Given the description of an element on the screen output the (x, y) to click on. 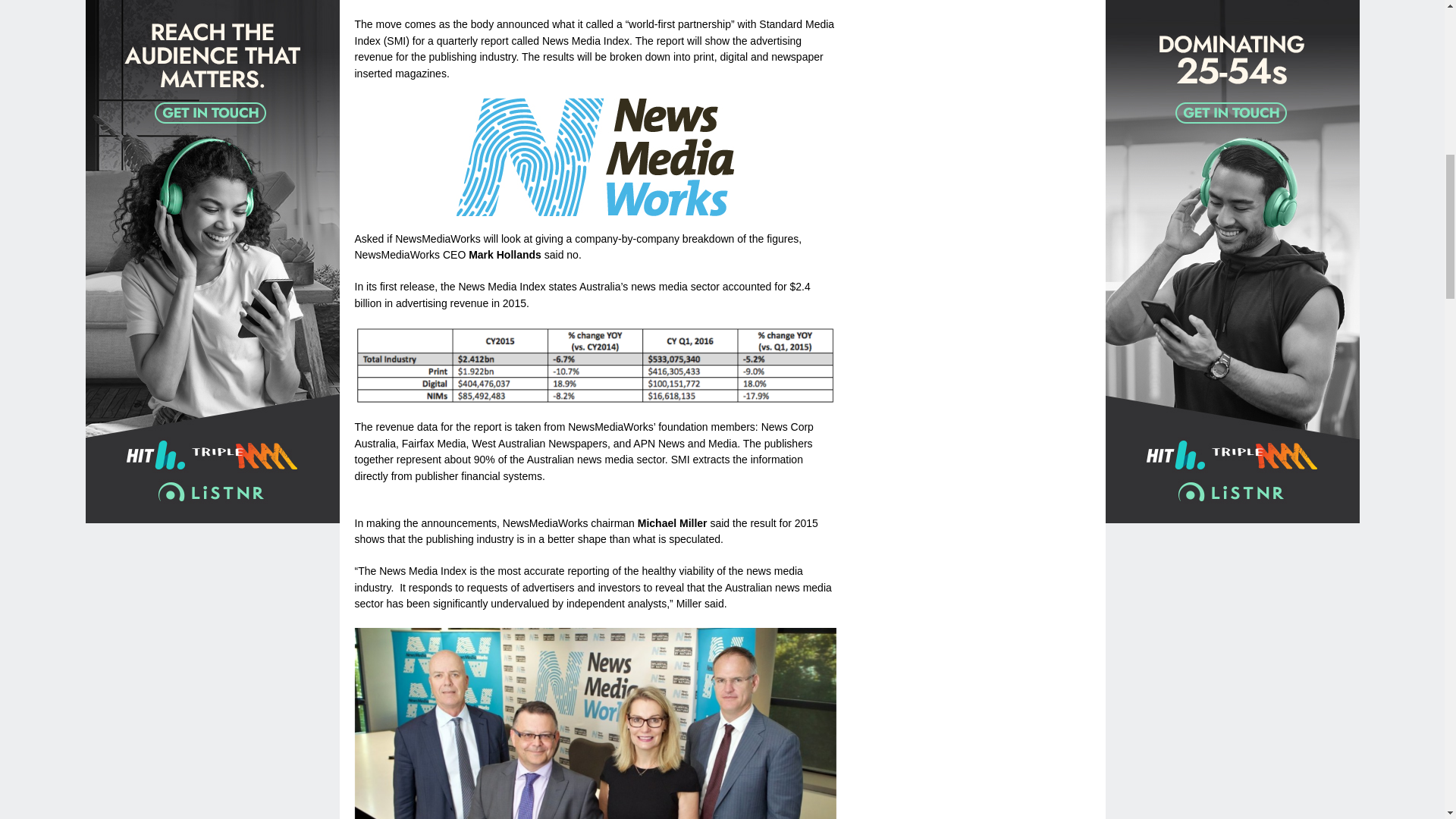
3rd party ad content (976, 127)
3rd party ad content (976, 380)
